Given the description of an element on the screen output the (x, y) to click on. 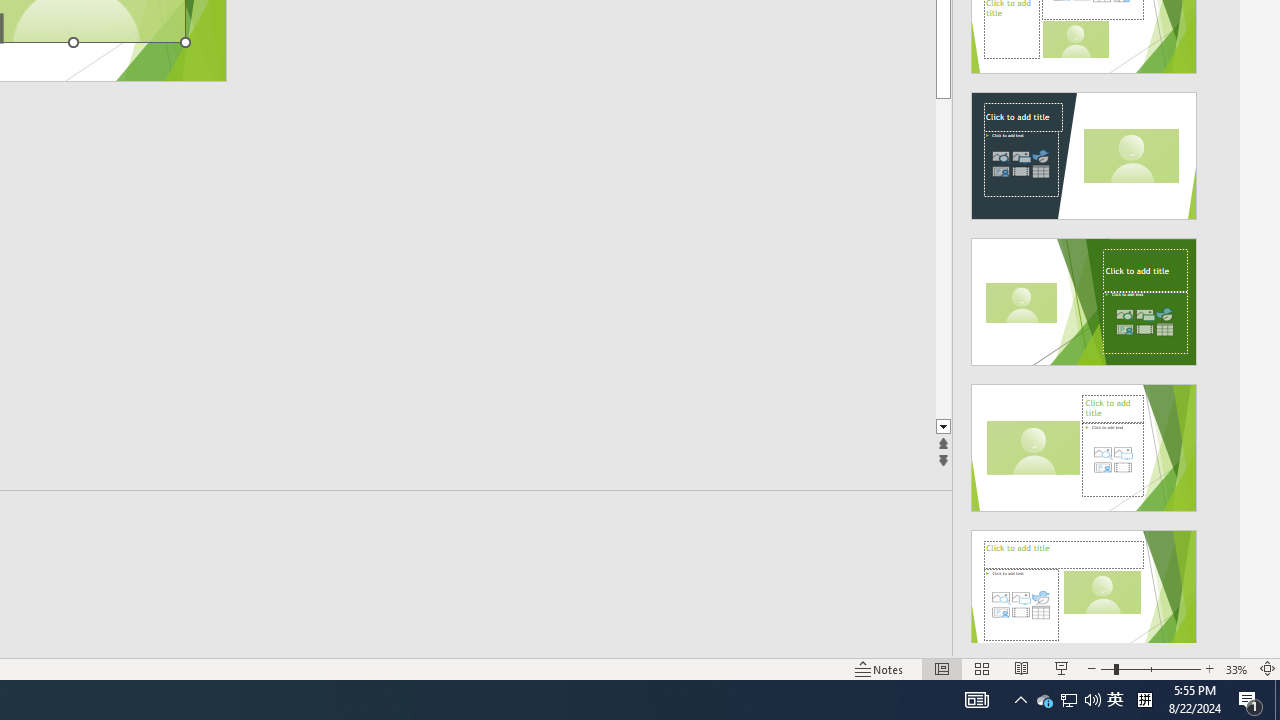
Zoom 33% (1236, 668)
Design Idea (1083, 587)
